Given the description of an element on the screen output the (x, y) to click on. 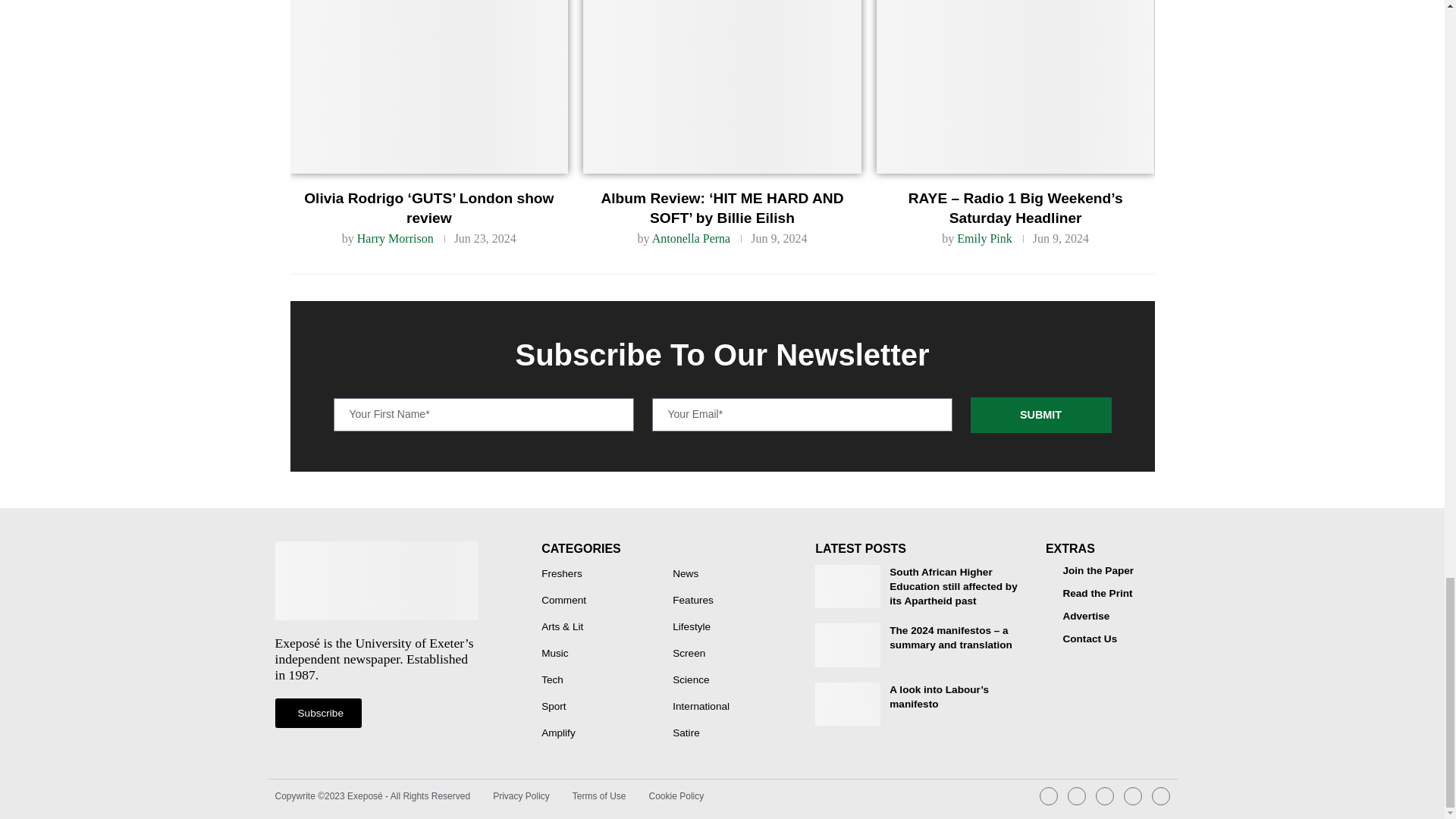
Harry Morrison (394, 237)
Emily Pink (983, 237)
Antonella Perna (691, 237)
